Given the description of an element on the screen output the (x, y) to click on. 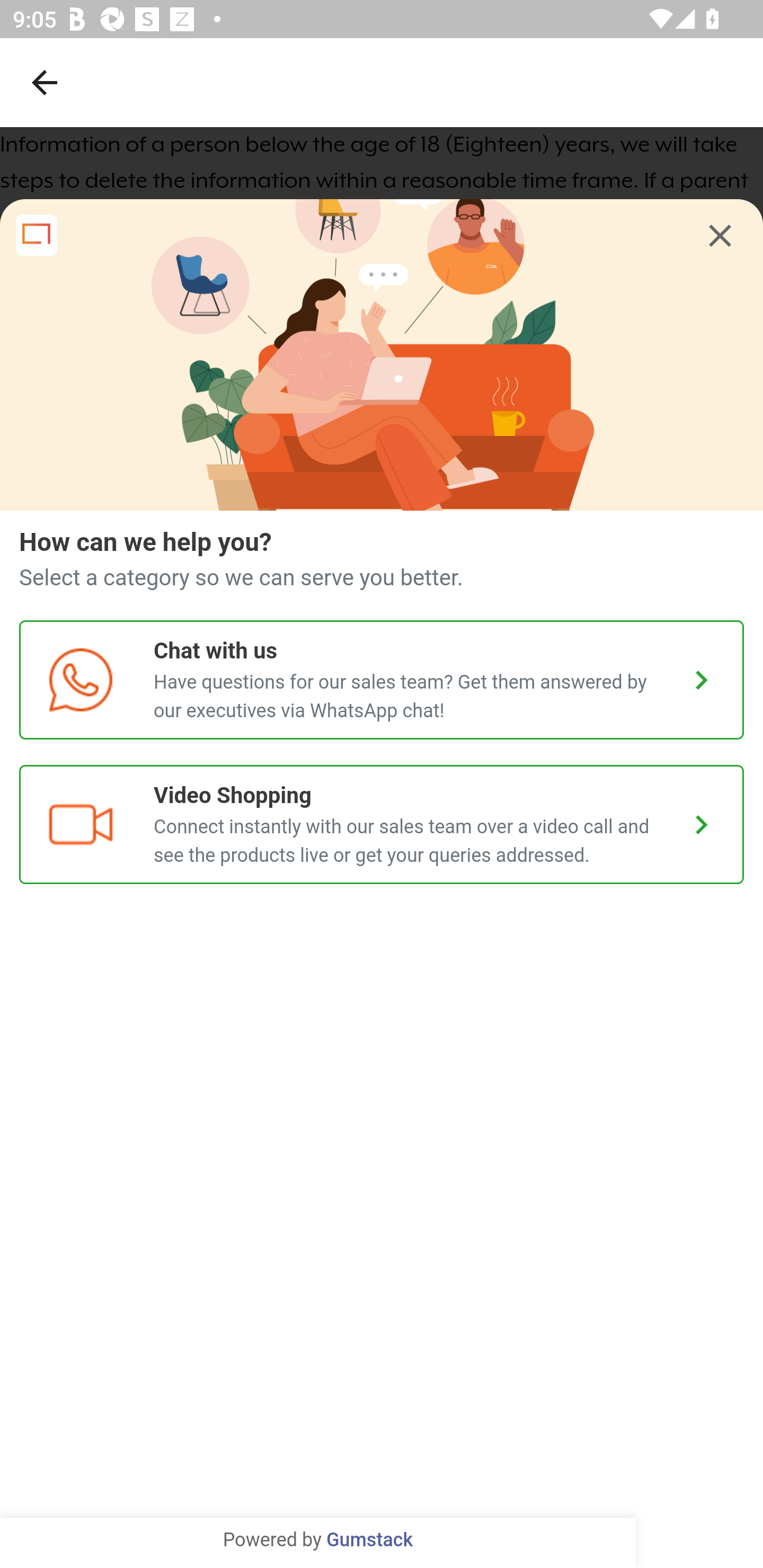
Navigate up (44, 82)
